Given the description of an element on the screen output the (x, y) to click on. 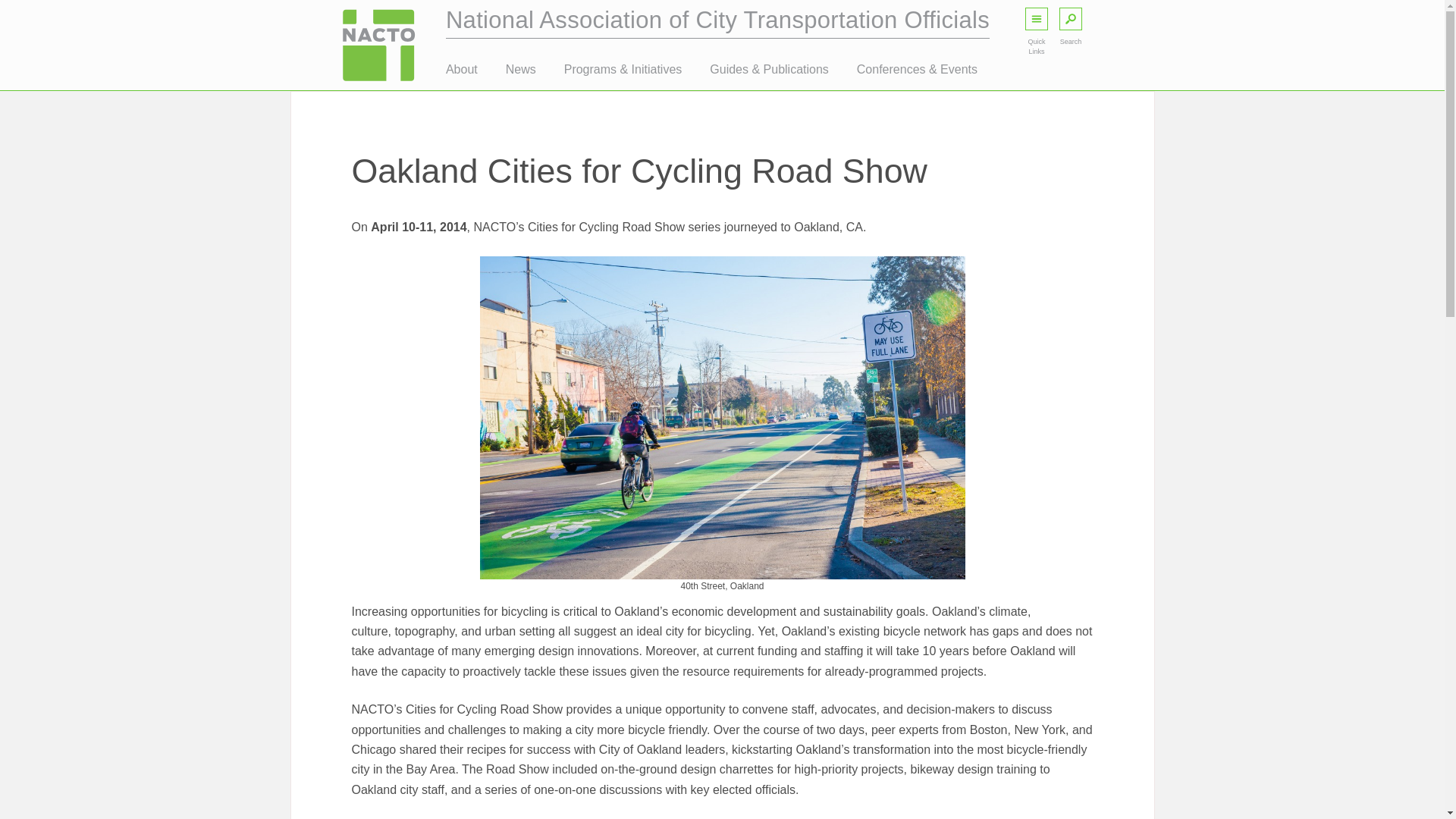
National Association of City Transportation Officials (717, 19)
Subscribe (749, 656)
Subscribe (749, 583)
